Given the description of an element on the screen output the (x, y) to click on. 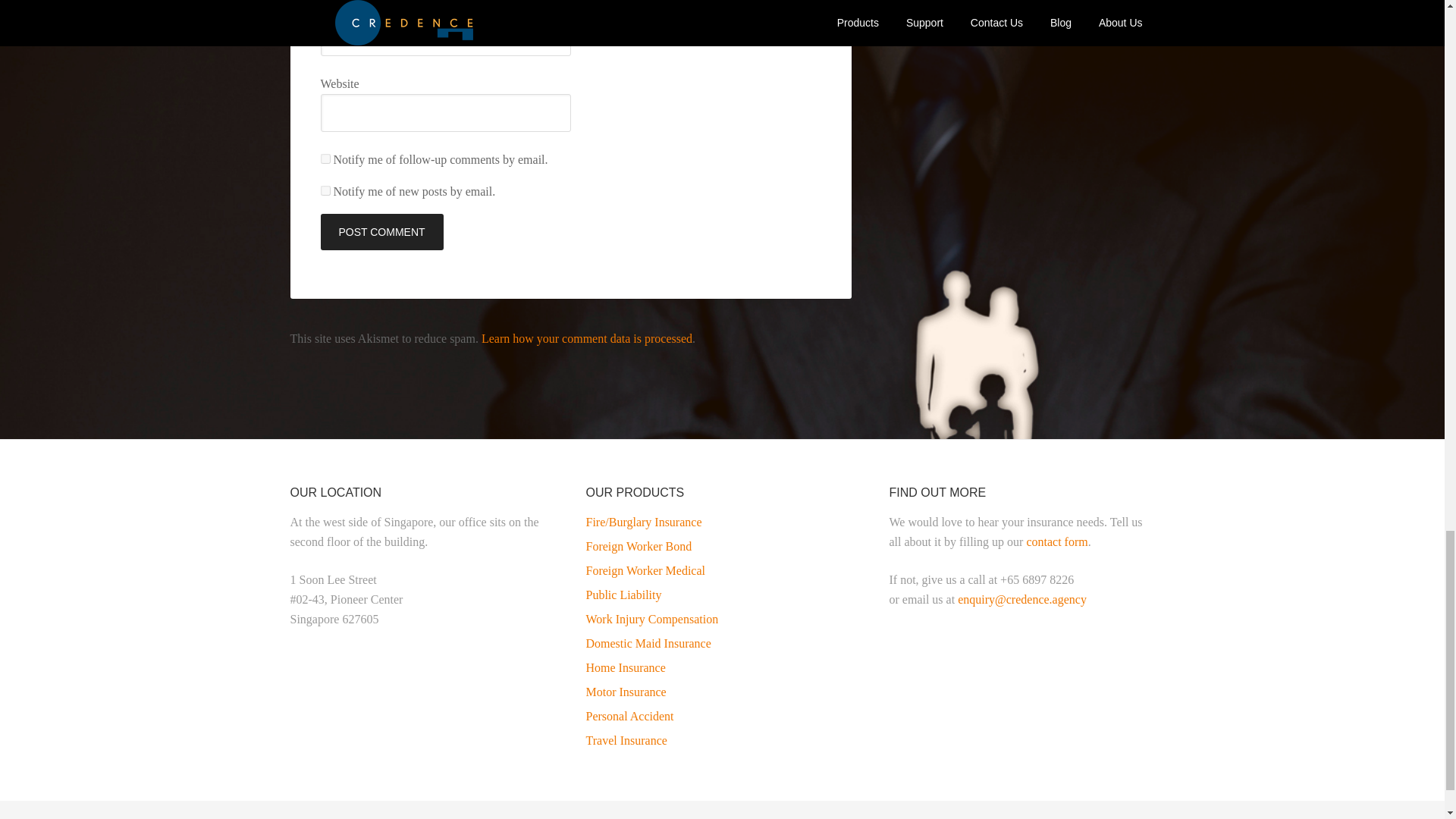
subscribe (325, 190)
Learn how your comment data is processed (587, 338)
subscribe (325, 158)
Post Comment (381, 231)
Post Comment (381, 231)
